Given the description of an element on the screen output the (x, y) to click on. 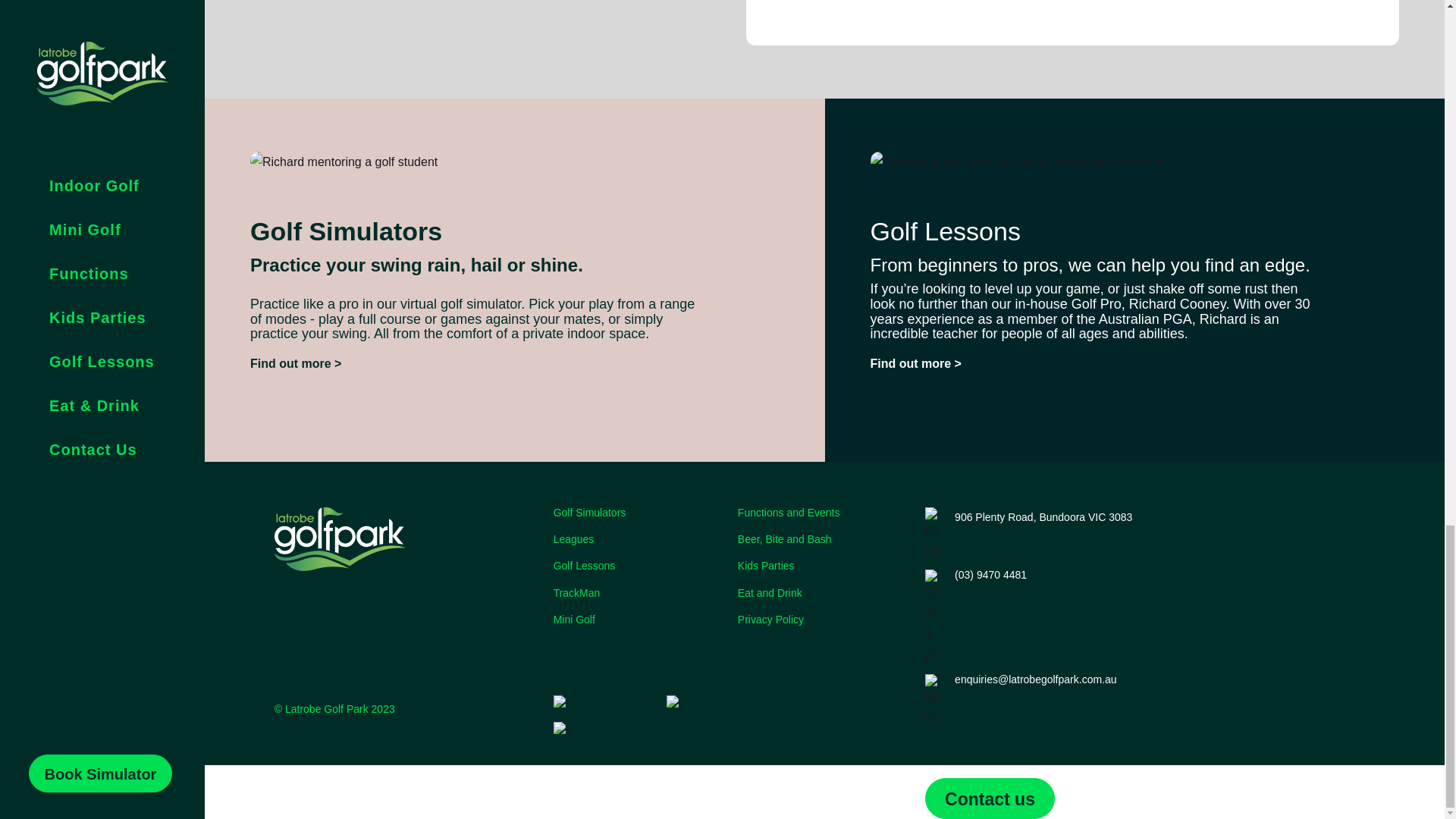
TrackMan (639, 593)
Mini Golf (639, 619)
Golf Lessons (639, 565)
Beer, Bite and Bash (824, 539)
Eat and Drink (824, 593)
Kids Parties (824, 565)
Privacy Policy (824, 619)
Leagues (639, 539)
Functions and Events (824, 512)
Golf Simulators (639, 512)
